Given the description of an element on the screen output the (x, y) to click on. 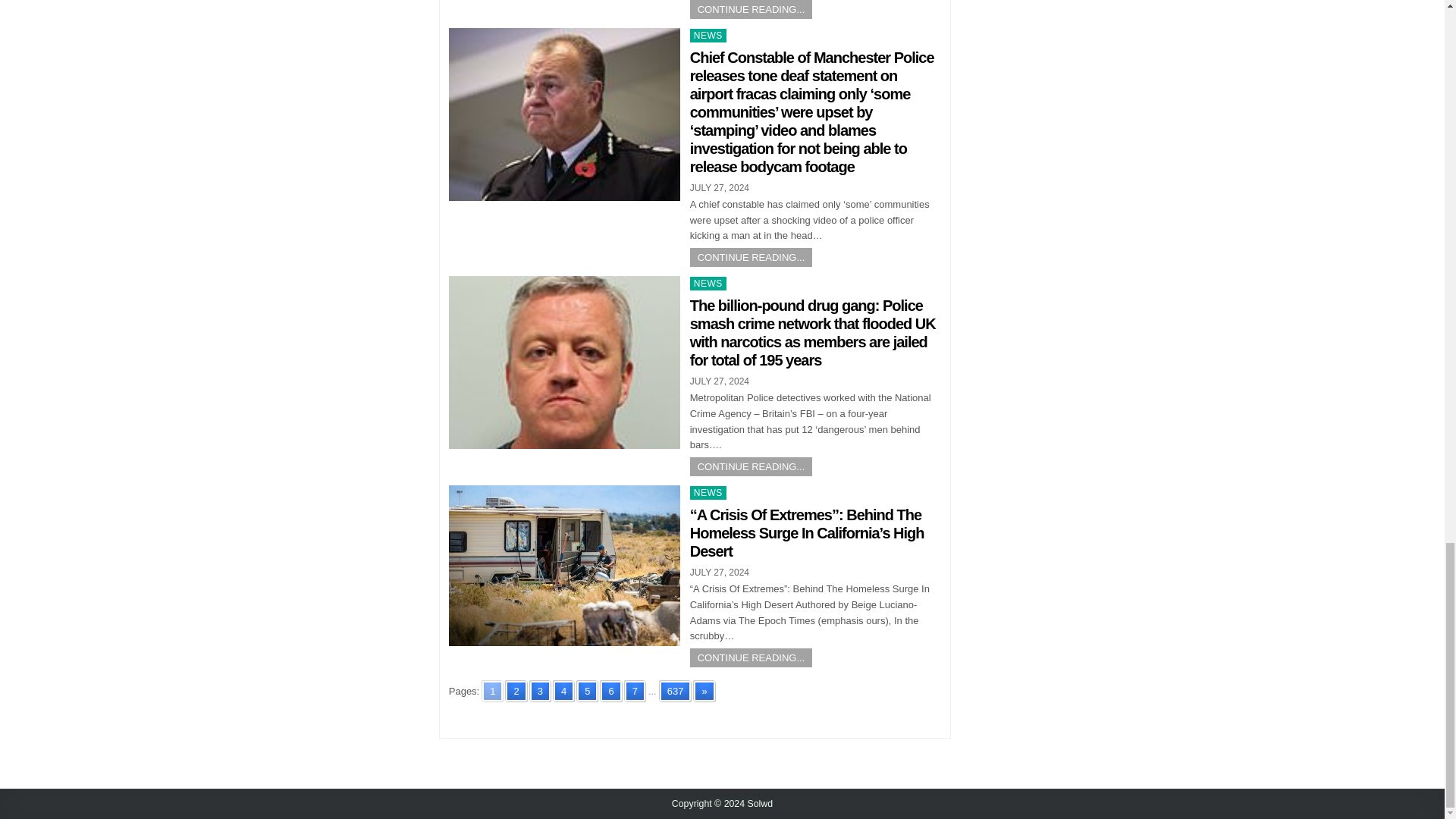
2 (515, 690)
4 (563, 690)
7 (634, 690)
NEWS (708, 35)
CONTINUE READING... (751, 9)
3 (539, 690)
6 (610, 690)
5 (586, 690)
CONTINUE READING... (751, 257)
